Given the description of an element on the screen output the (x, y) to click on. 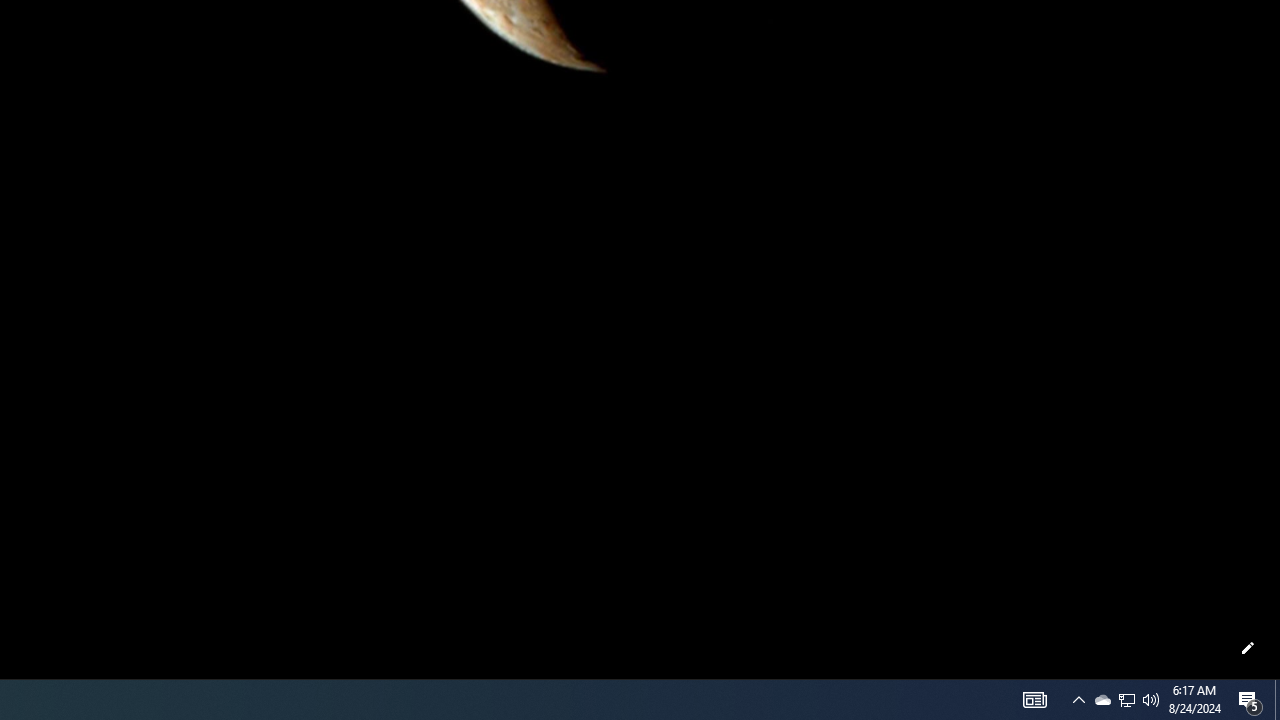
Customize this page (1247, 647)
